Given the description of an element on the screen output the (x, y) to click on. 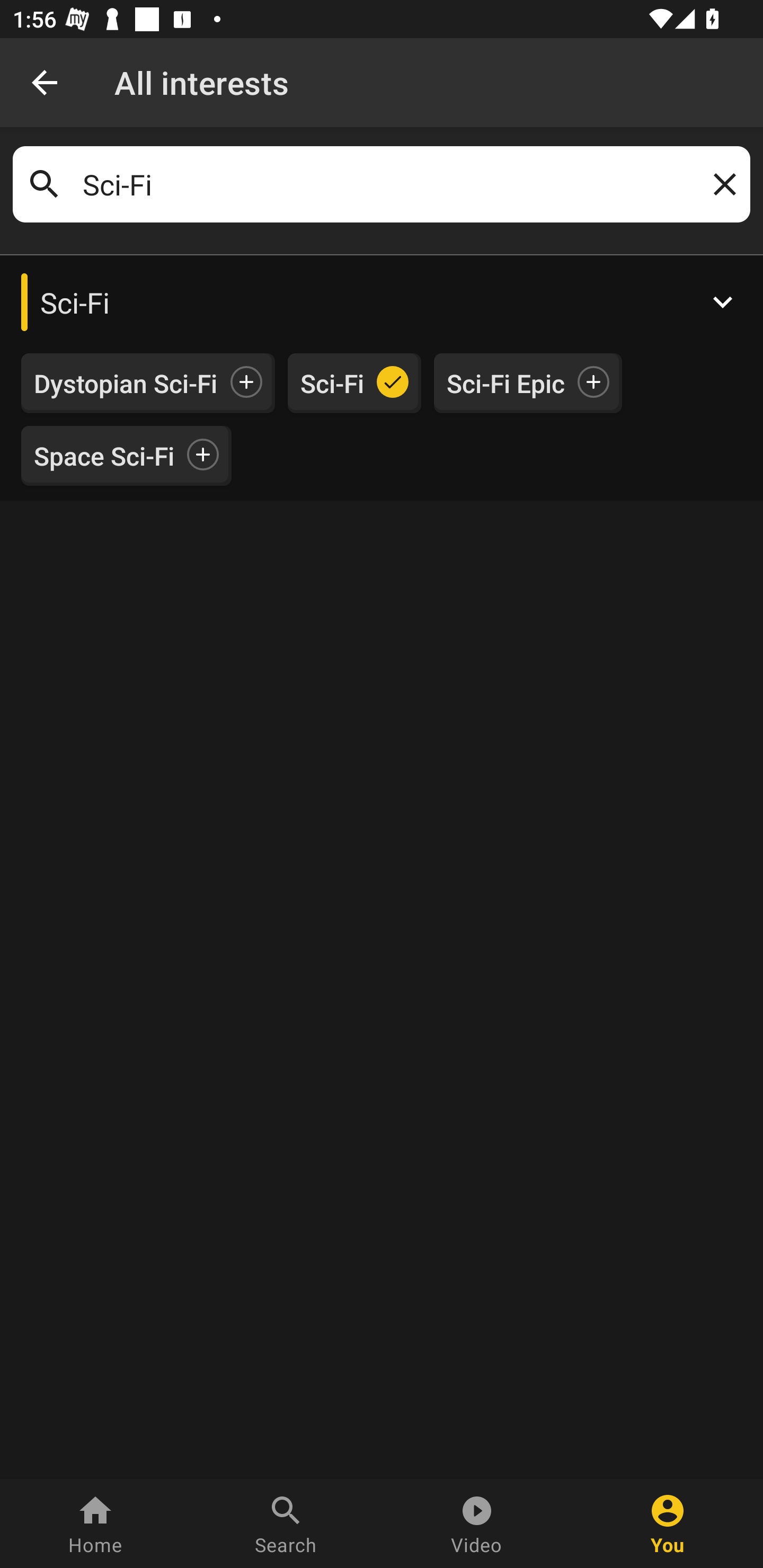
Clear query (721, 183)
Sci-Fi (381, 184)
Sci-Fi (381, 301)
Dystopian Sci-Fi (125, 382)
Sci-Fi (331, 382)
Sci-Fi Epic (505, 382)
Space Sci-Fi (103, 456)
Home (95, 1523)
Search (285, 1523)
Video (476, 1523)
